Given the description of an element on the screen output the (x, y) to click on. 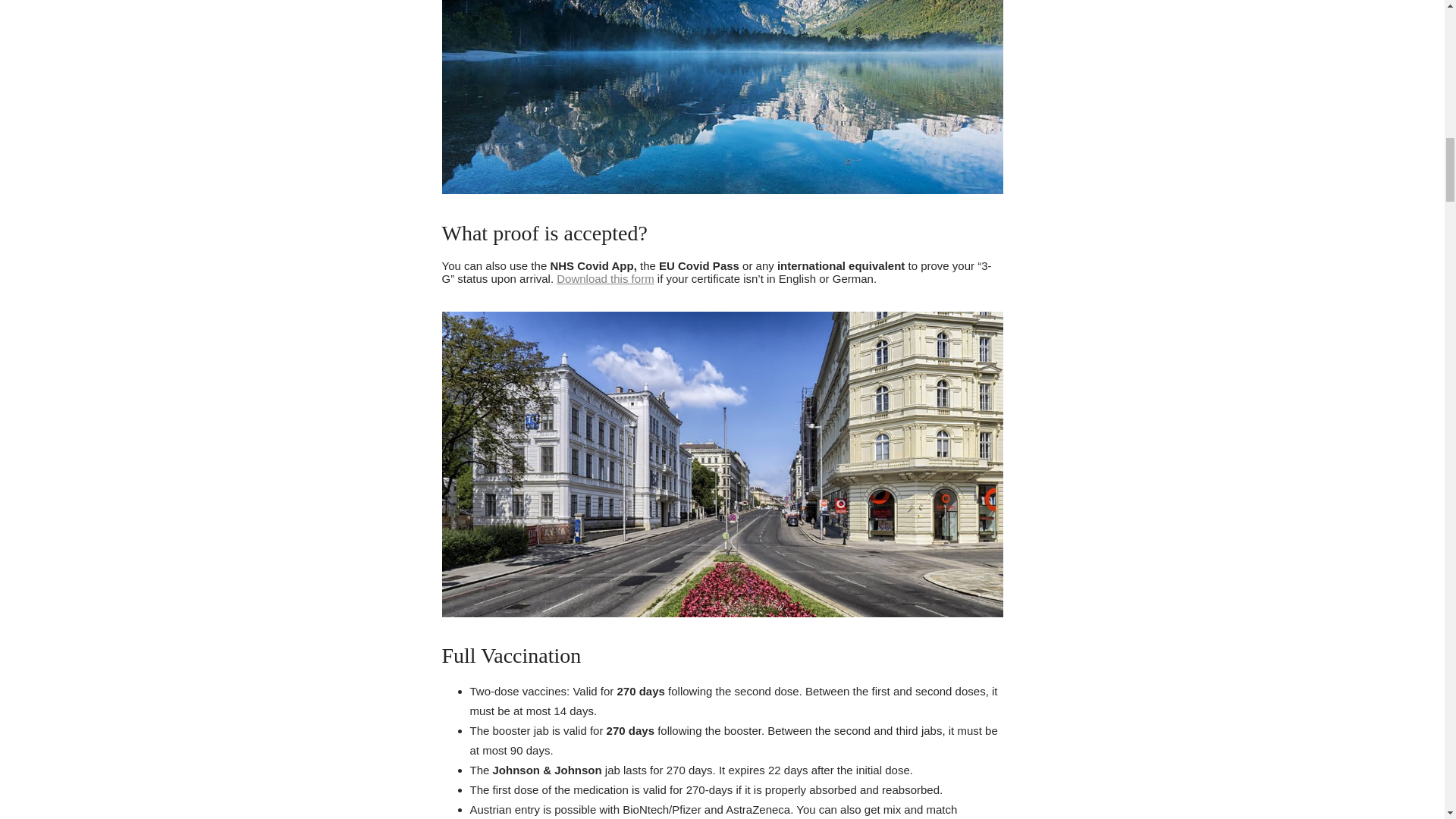
Download this form (604, 278)
